Given the description of an element on the screen output the (x, y) to click on. 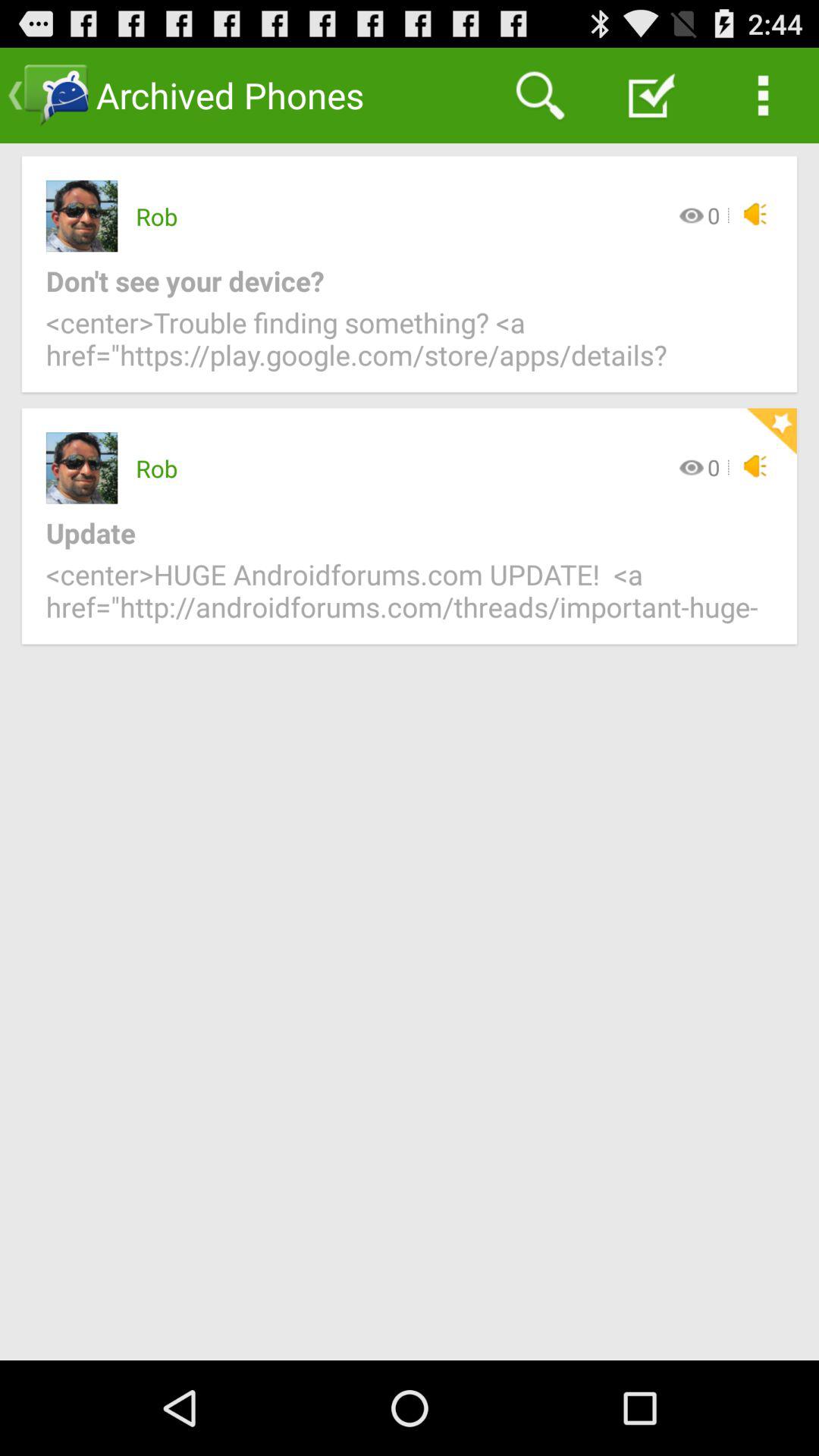
choose the icon above center trouble finding icon (397, 280)
